Given the description of an element on the screen output the (x, y) to click on. 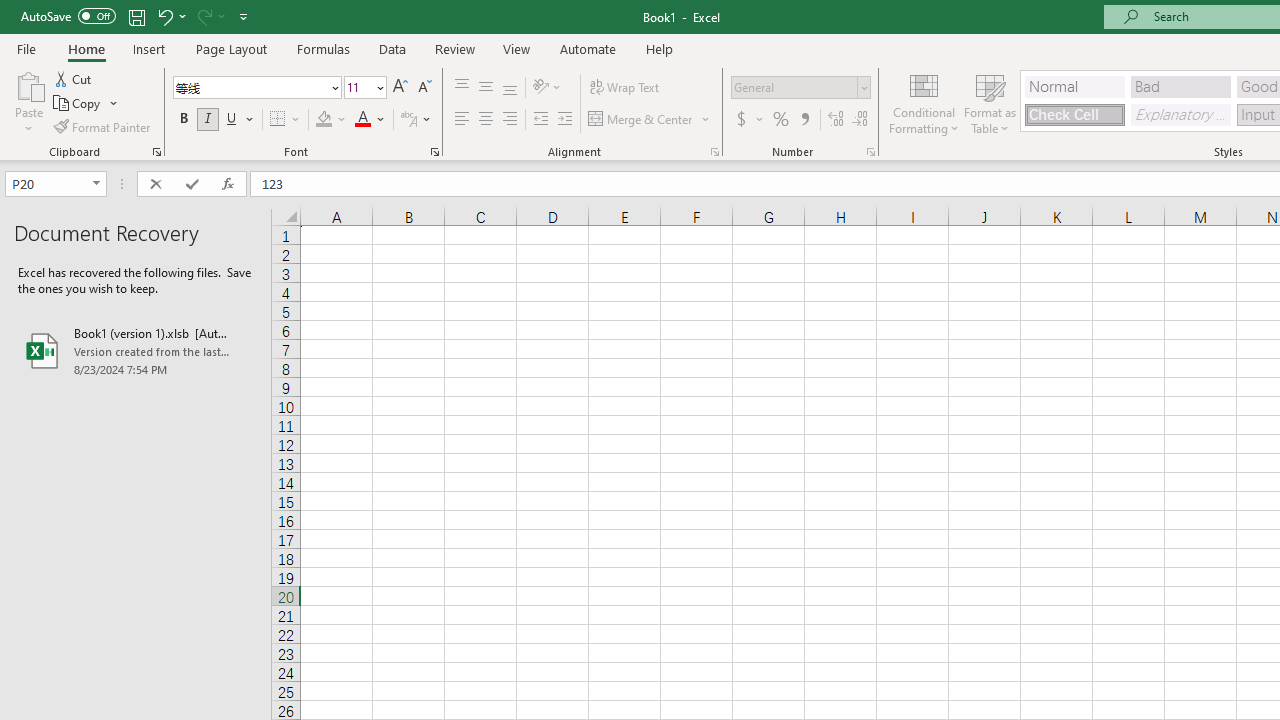
Font Size (358, 87)
Decrease Indent (540, 119)
Increase Indent (565, 119)
Merge & Center (641, 119)
Font Size (365, 87)
Format Cell Font (434, 151)
Show Phonetic Field (408, 119)
Font (250, 87)
